Given the description of an element on the screen output the (x, y) to click on. 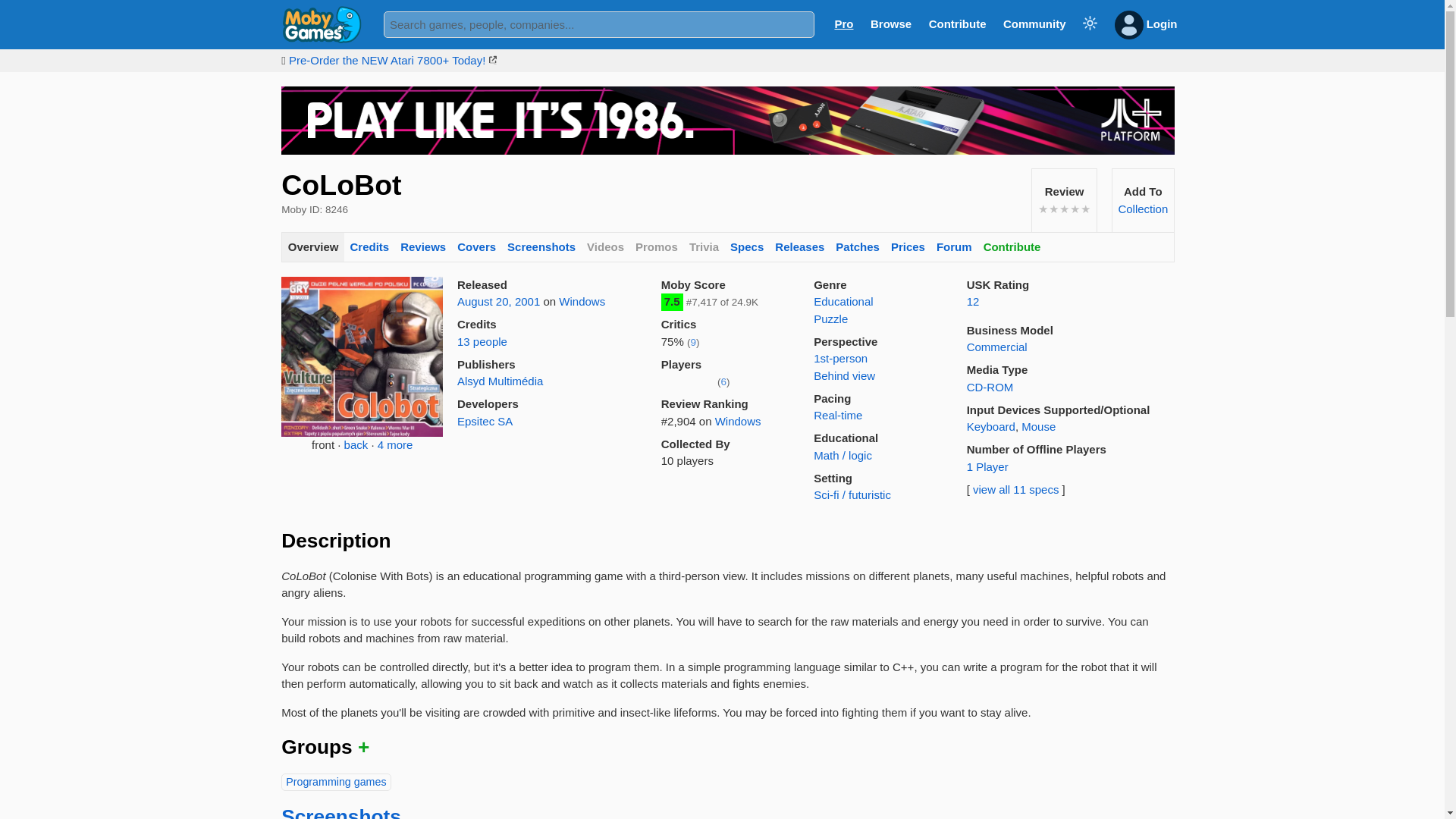
Overview (312, 247)
Pro (843, 23)
Collection (1142, 208)
Reviews (422, 247)
Credits (368, 247)
Covers (476, 247)
